Given the description of an element on the screen output the (x, y) to click on. 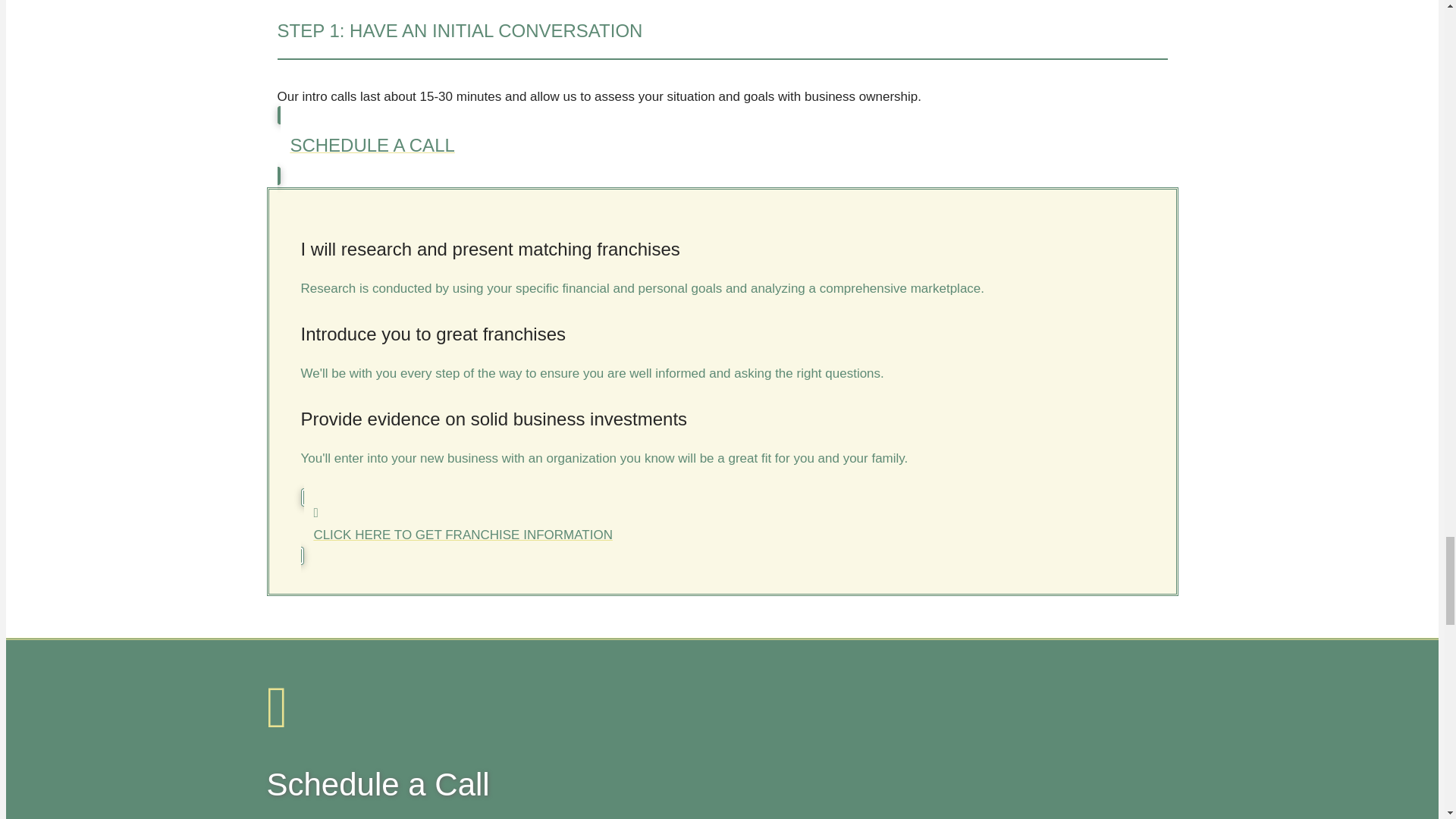
CLICK HERE TO GET FRANCHISE INFORMATION (720, 526)
SCHEDULE A CALL (722, 145)
